Given the description of an element on the screen output the (x, y) to click on. 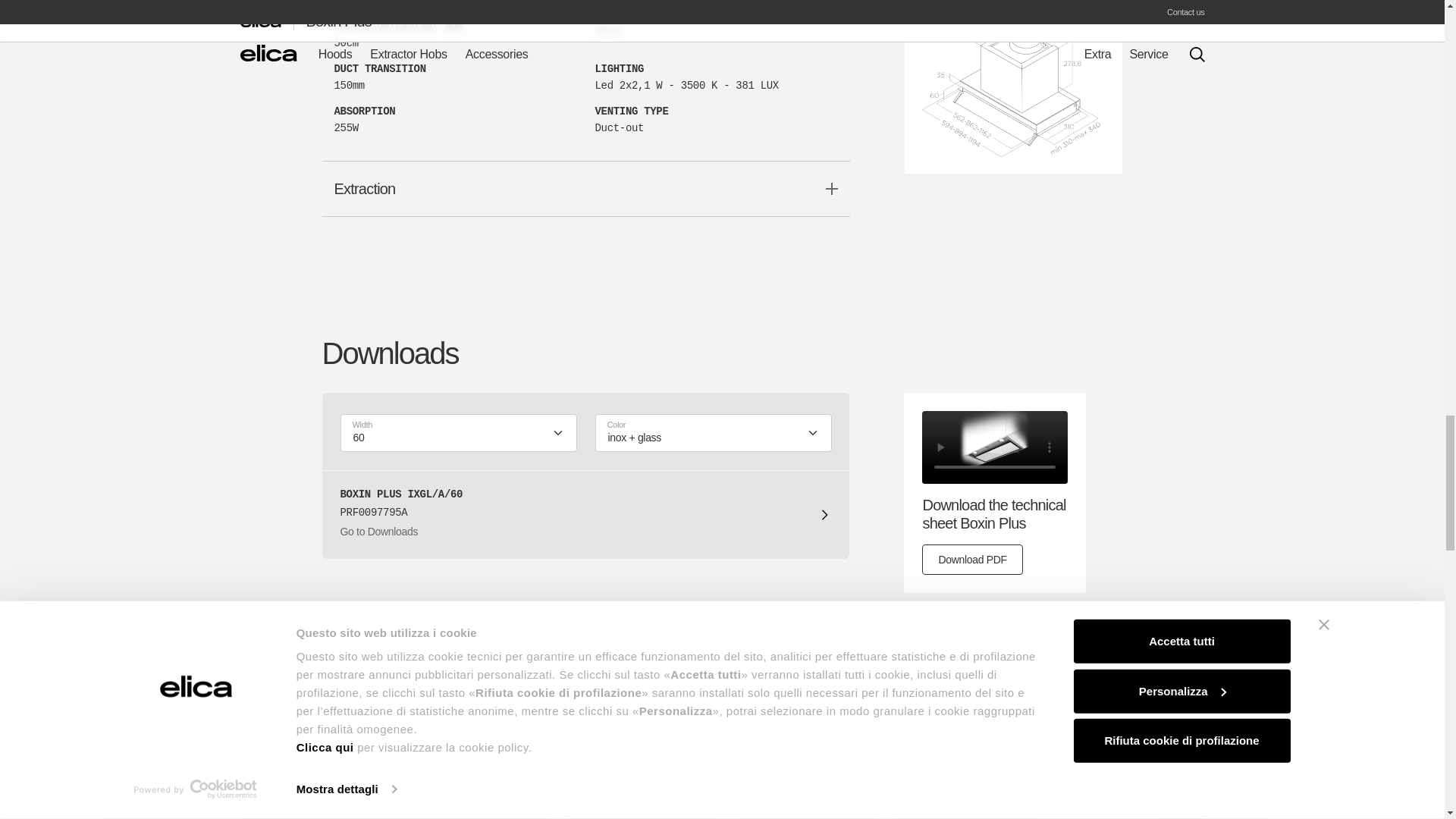
60 (446, 437)
